Given the description of an element on the screen output the (x, y) to click on. 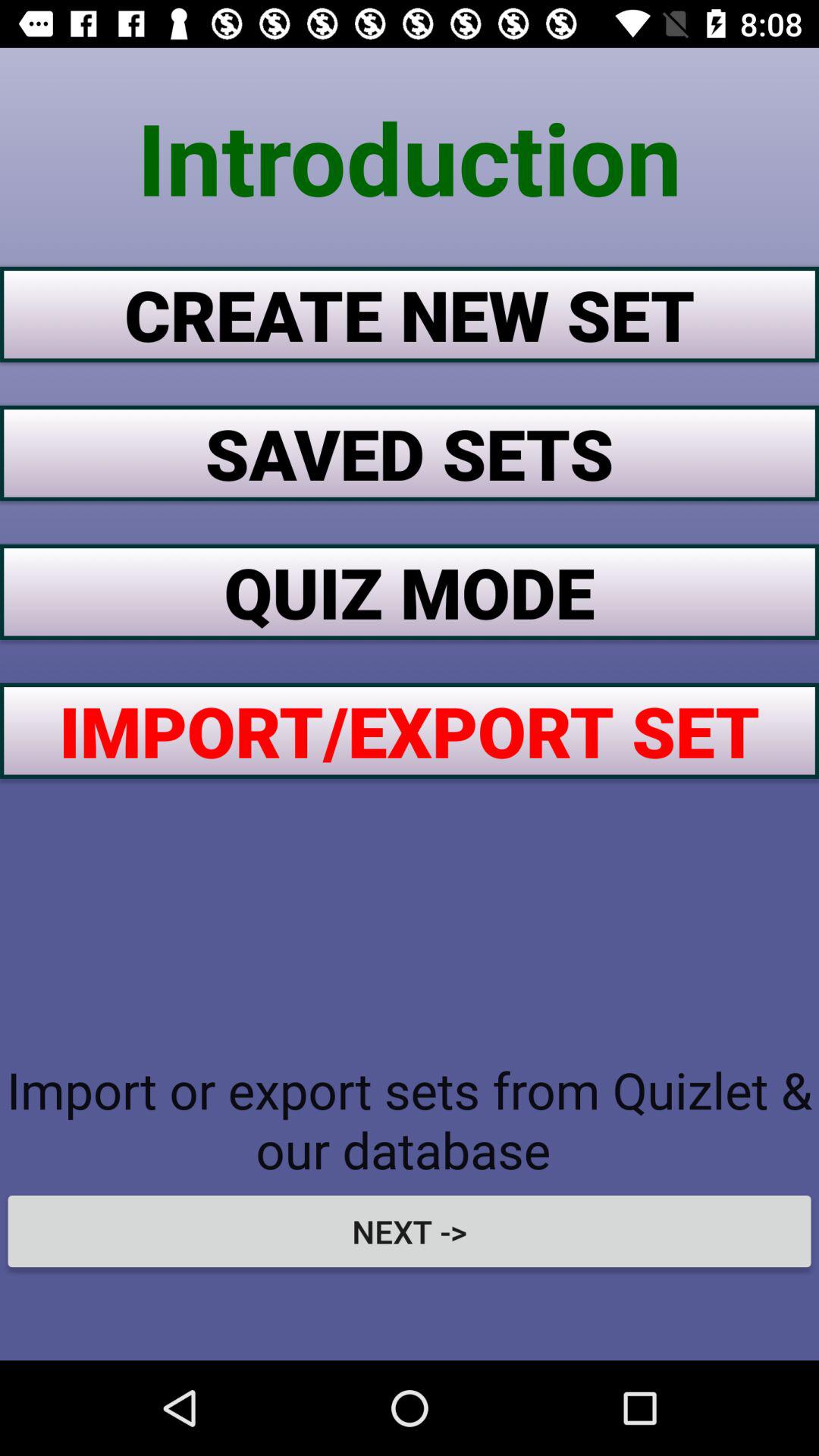
scroll until the create new set button (409, 314)
